Given the description of an element on the screen output the (x, y) to click on. 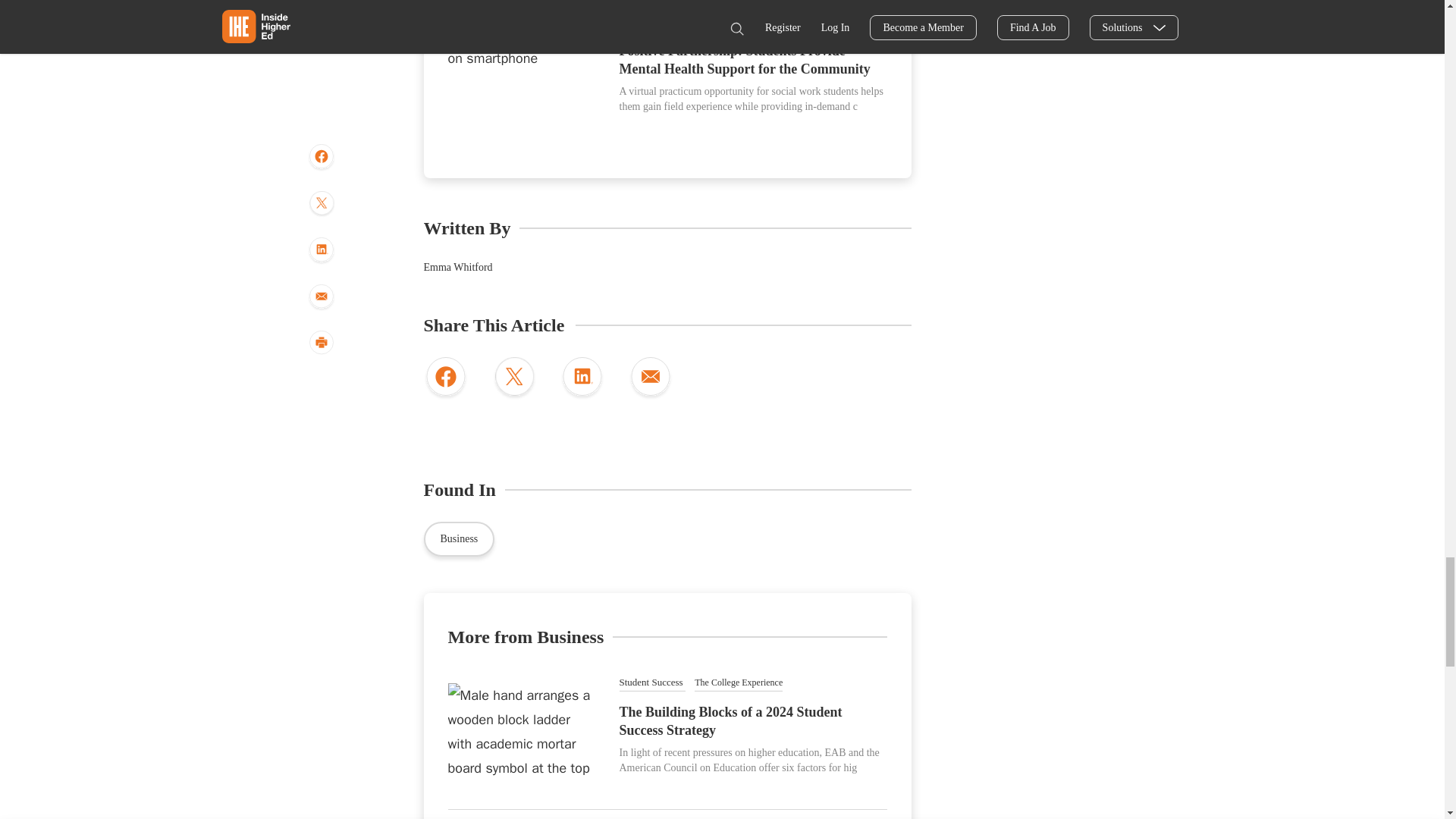
share to facebook (445, 378)
